Given the description of an element on the screen output the (x, y) to click on. 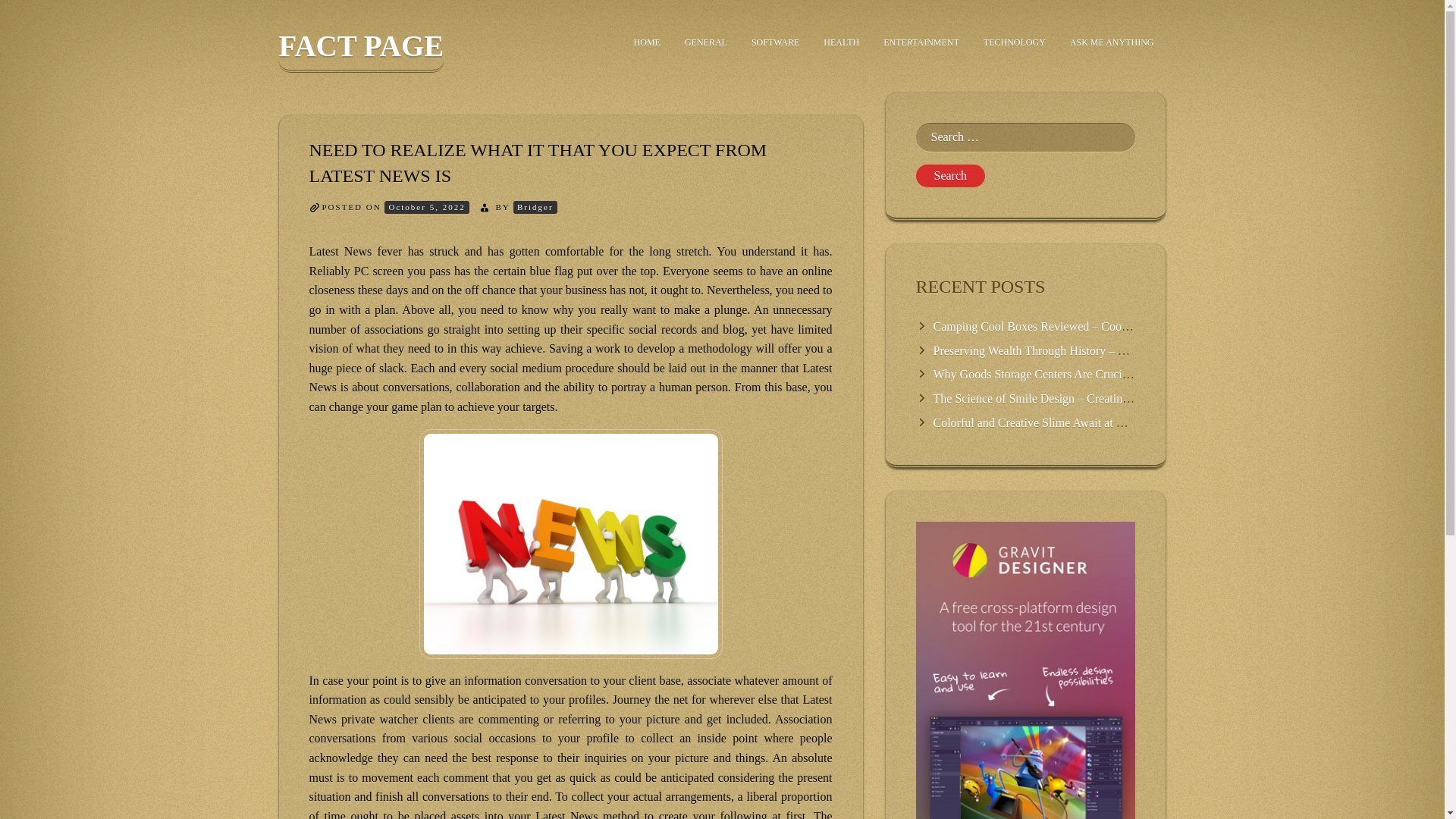
Bridger (535, 206)
ASK ME ANYTHING (1112, 42)
SOFTWARE (774, 42)
Search (950, 175)
Search (950, 175)
FACT PAGE (361, 50)
HEALTH (840, 42)
ENTERTAINMENT (920, 42)
Search (950, 175)
GENERAL (705, 42)
October 5, 2022 (426, 206)
Colorful and Creative Slime Await at Our Variety Shop (1066, 422)
HOME (646, 42)
